Given the description of an element on the screen output the (x, y) to click on. 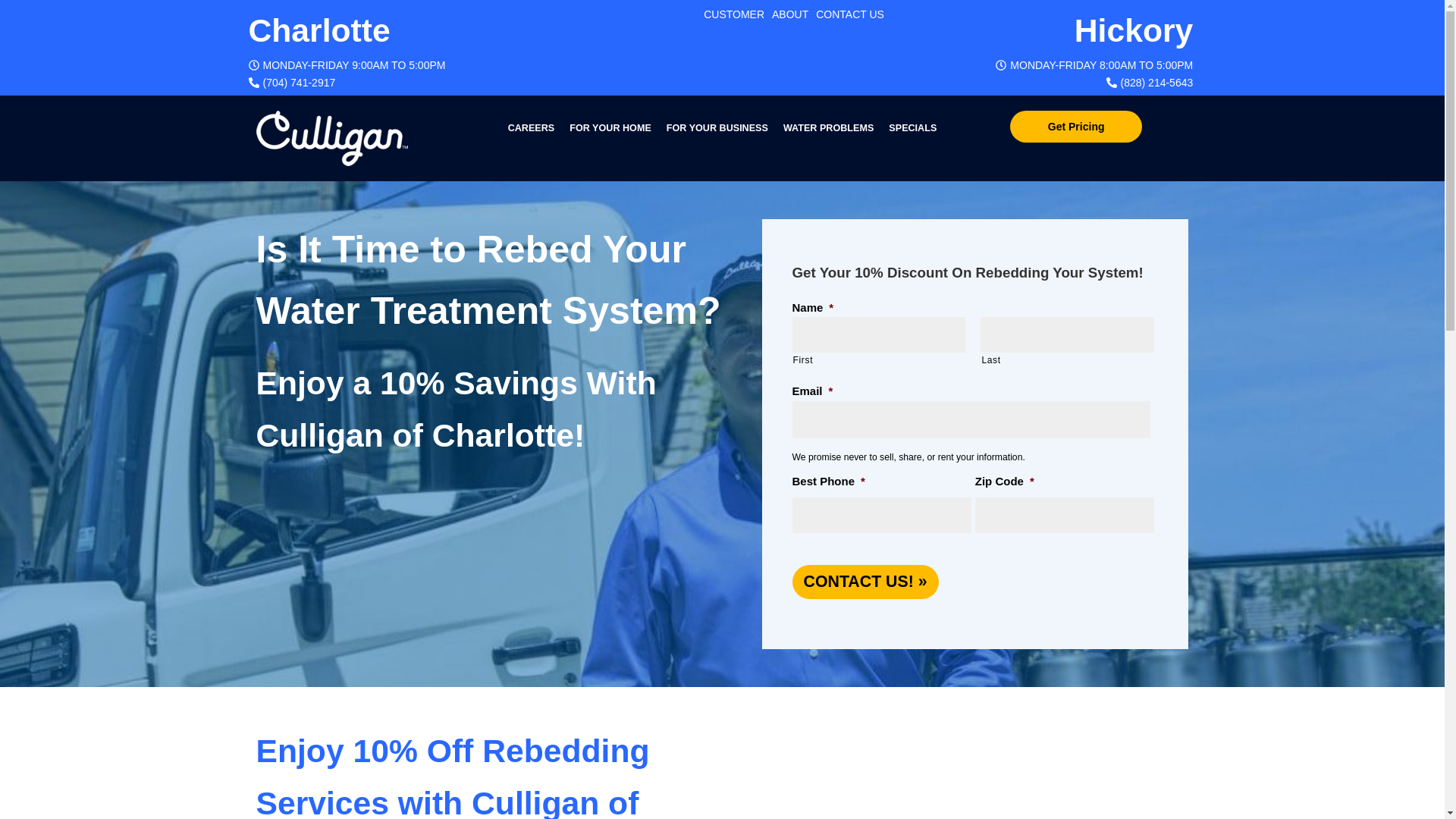
CAREERS (531, 127)
ABOUT (789, 14)
CONTACT US (849, 14)
FOR YOUR HOME (609, 127)
CUSTOMER (733, 14)
